Given the description of an element on the screen output the (x, y) to click on. 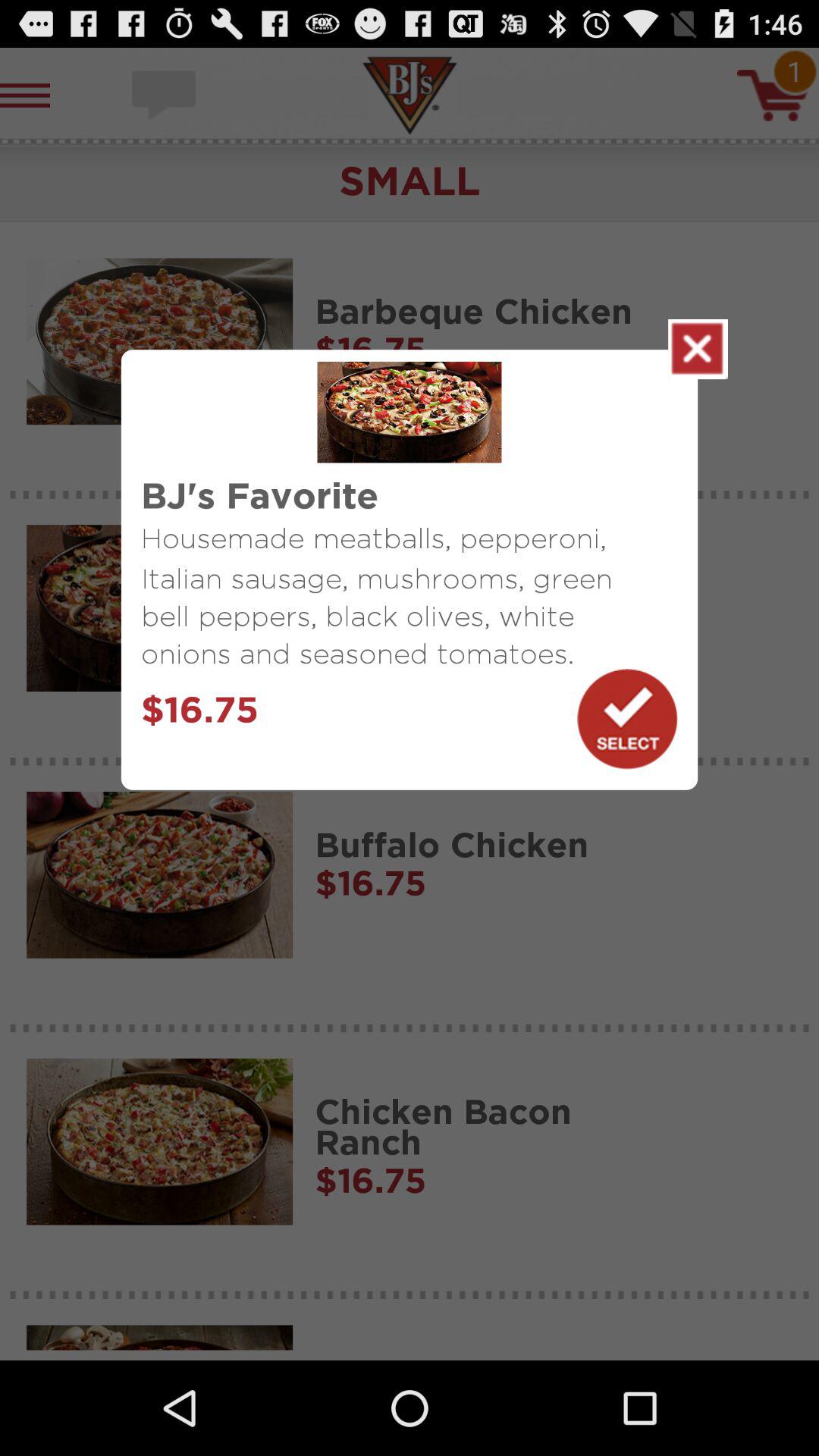
select button (627, 718)
